Given the description of an element on the screen output the (x, y) to click on. 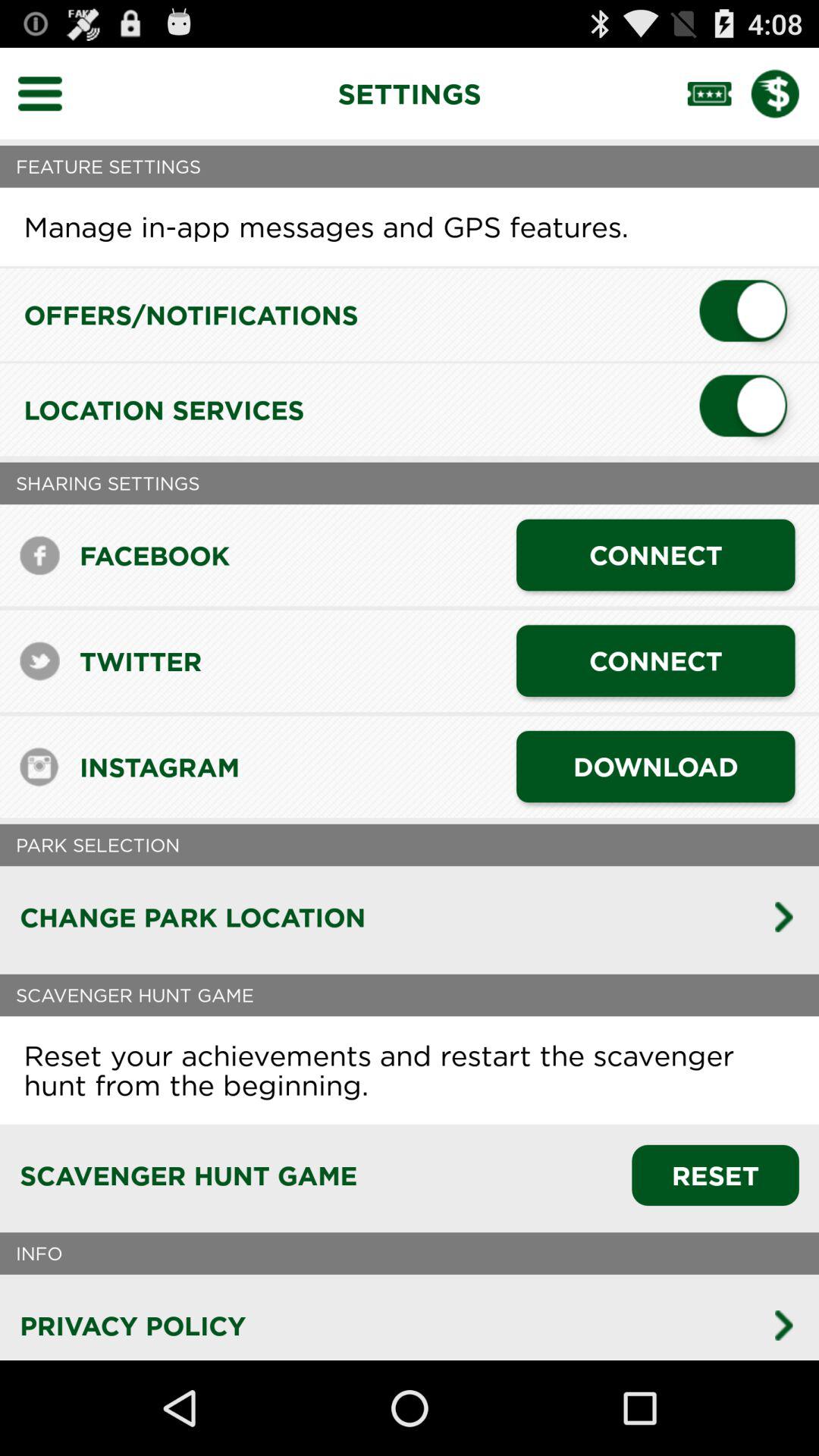
select the button next to facebook (655, 555)
click on connect present next to twitter (655, 660)
